Given the description of an element on the screen output the (x, y) to click on. 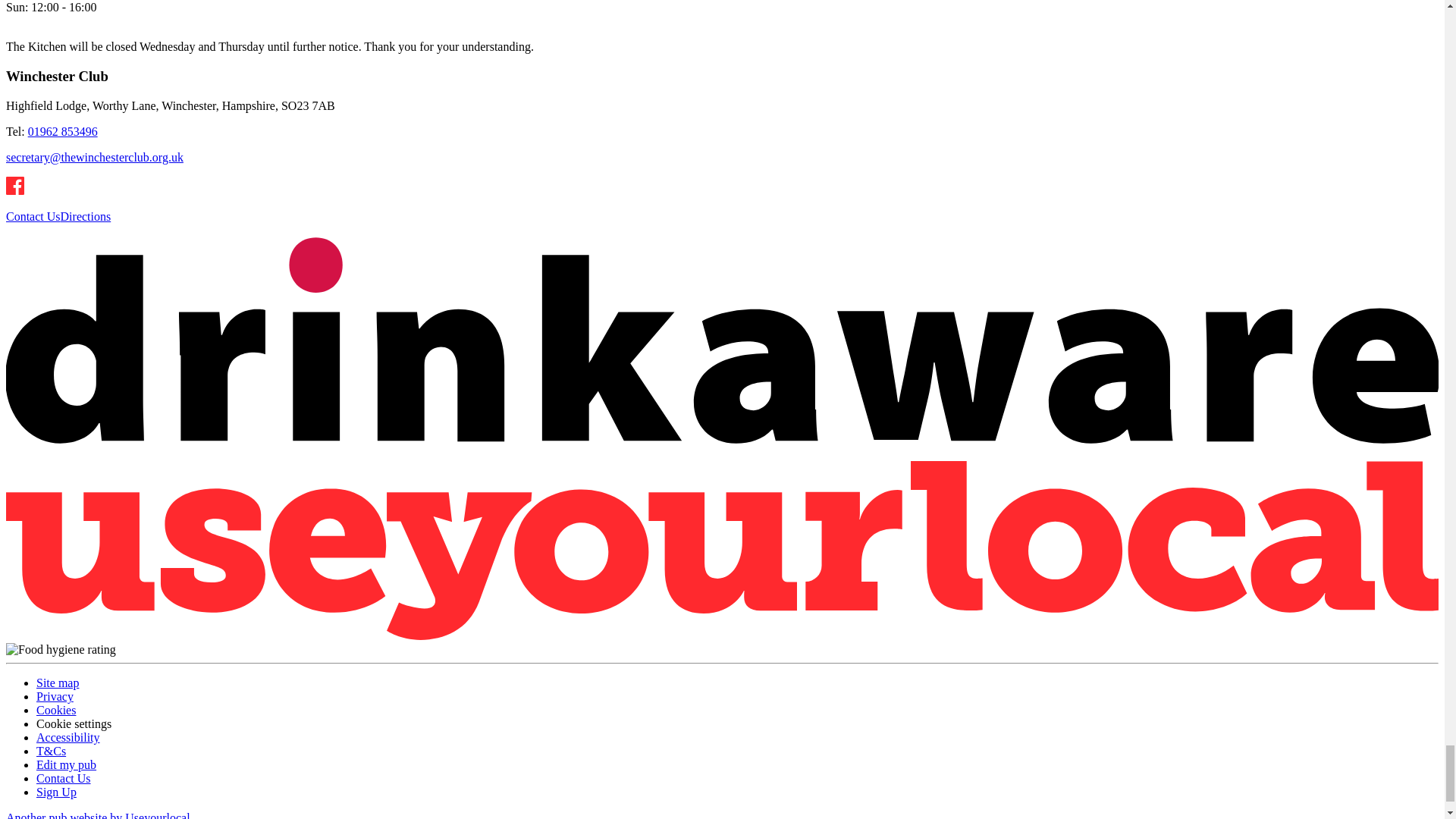
Cookies (55, 709)
Facebook (14, 190)
Site map (57, 682)
Cookie settings (74, 723)
Directions (86, 215)
Facebook (14, 185)
Contact Us (33, 215)
Accessibility (68, 737)
Privacy (55, 696)
Contact Us (63, 778)
Another pub website by Useyourlocal (97, 815)
01962 853496 (62, 131)
Food hygiene rating (60, 649)
Edit my pub (66, 764)
Sign Up (56, 791)
